Given the description of an element on the screen output the (x, y) to click on. 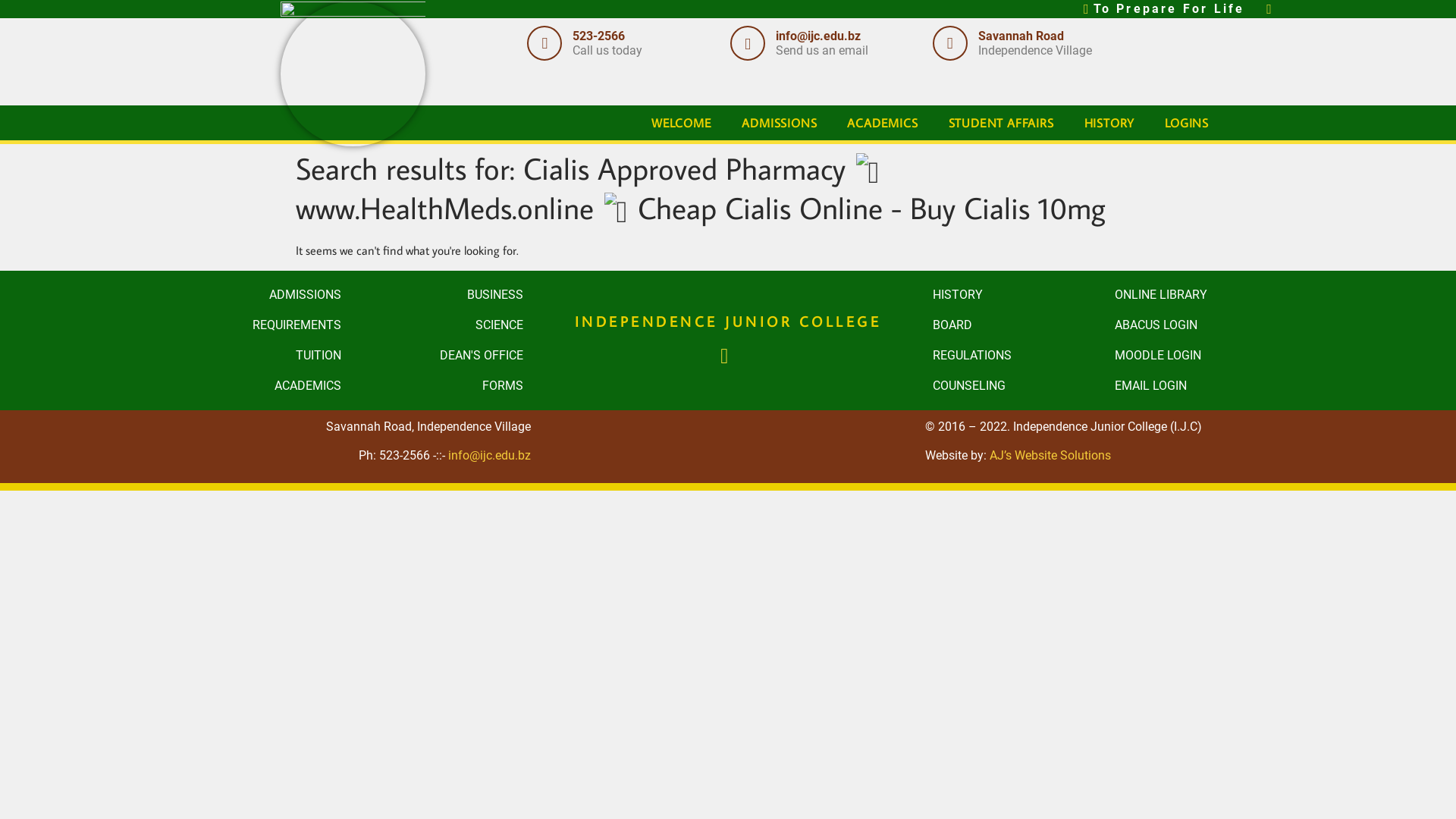
ADMISSIONS Element type: text (778, 122)
MOODLE LOGIN Element type: text (1197, 355)
ADMISSIONS Element type: text (257, 294)
BOARD Element type: text (1015, 325)
REGULATIONS Element type: text (1015, 355)
info@ijc.edu.bz Element type: text (817, 35)
FORMS Element type: text (439, 385)
WELCOME Element type: text (681, 122)
BUSINESS Element type: text (439, 294)
HISTORY Element type: text (1015, 294)
ONLINE LIBRARY Element type: text (1197, 294)
COUNSELING Element type: text (1015, 385)
DEAN'S OFFICE Element type: text (439, 355)
STUDENT AFFAIRS Element type: text (1001, 122)
ABACUS LOGIN Element type: text (1197, 325)
TUITION Element type: text (257, 355)
REQUIREMENTS Element type: text (257, 325)
info@ijc.edu.bz Element type: text (489, 455)
ACADEMICS Element type: text (257, 385)
HISTORY Element type: text (1109, 122)
SCIENCE Element type: text (439, 325)
523-2566 Element type: text (598, 35)
ACADEMICS Element type: text (881, 122)
EMAIL LOGIN Element type: text (1197, 385)
LOGINS Element type: text (1186, 122)
ijc-logo-195 Element type: hover (727, 288)
